Given the description of an element on the screen output the (x, y) to click on. 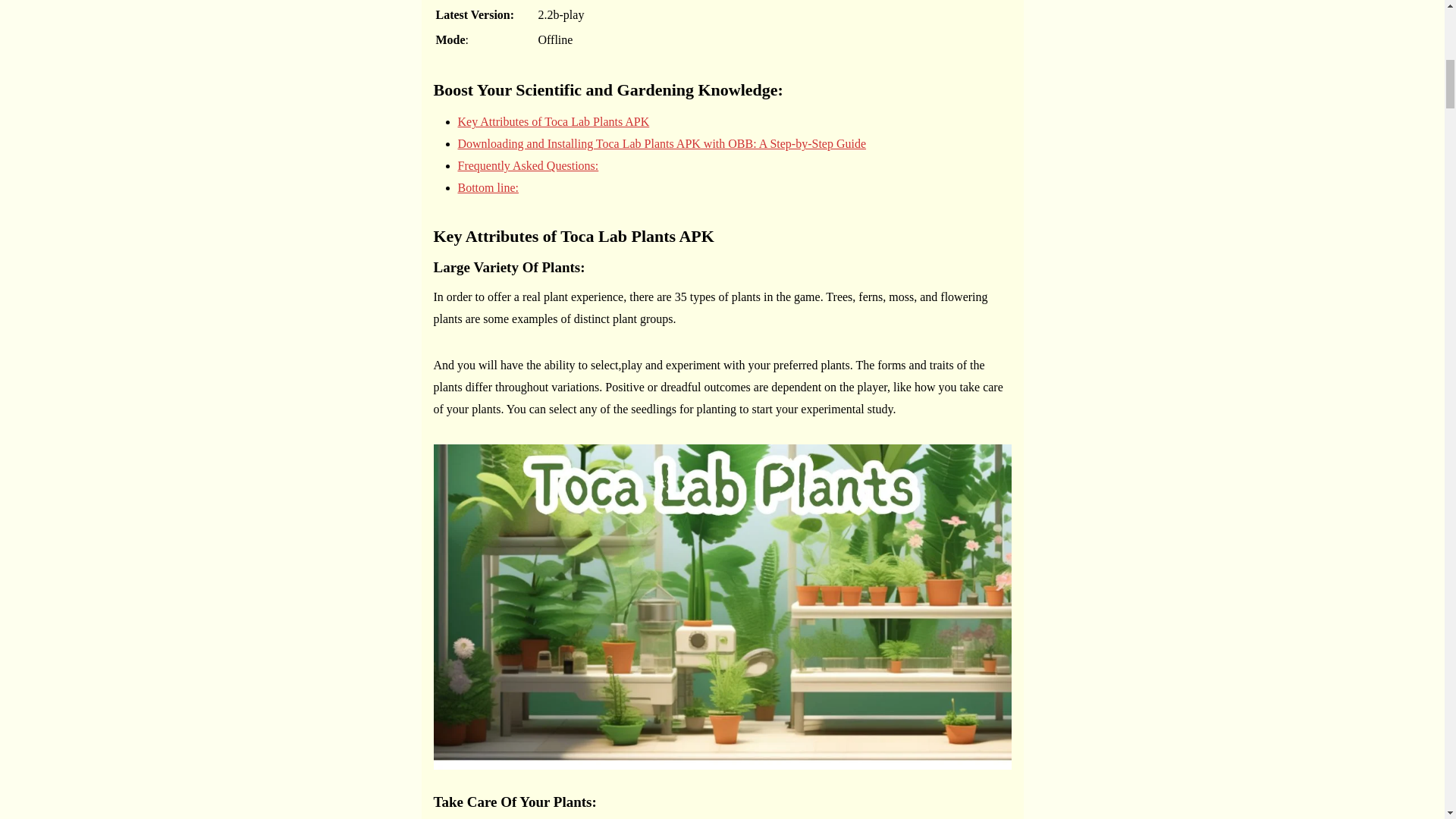
Key Attributes of Toca Lab Plants APK (553, 121)
Bottom line: (488, 187)
Frequently Asked Questions: (528, 164)
